Given the description of an element on the screen output the (x, y) to click on. 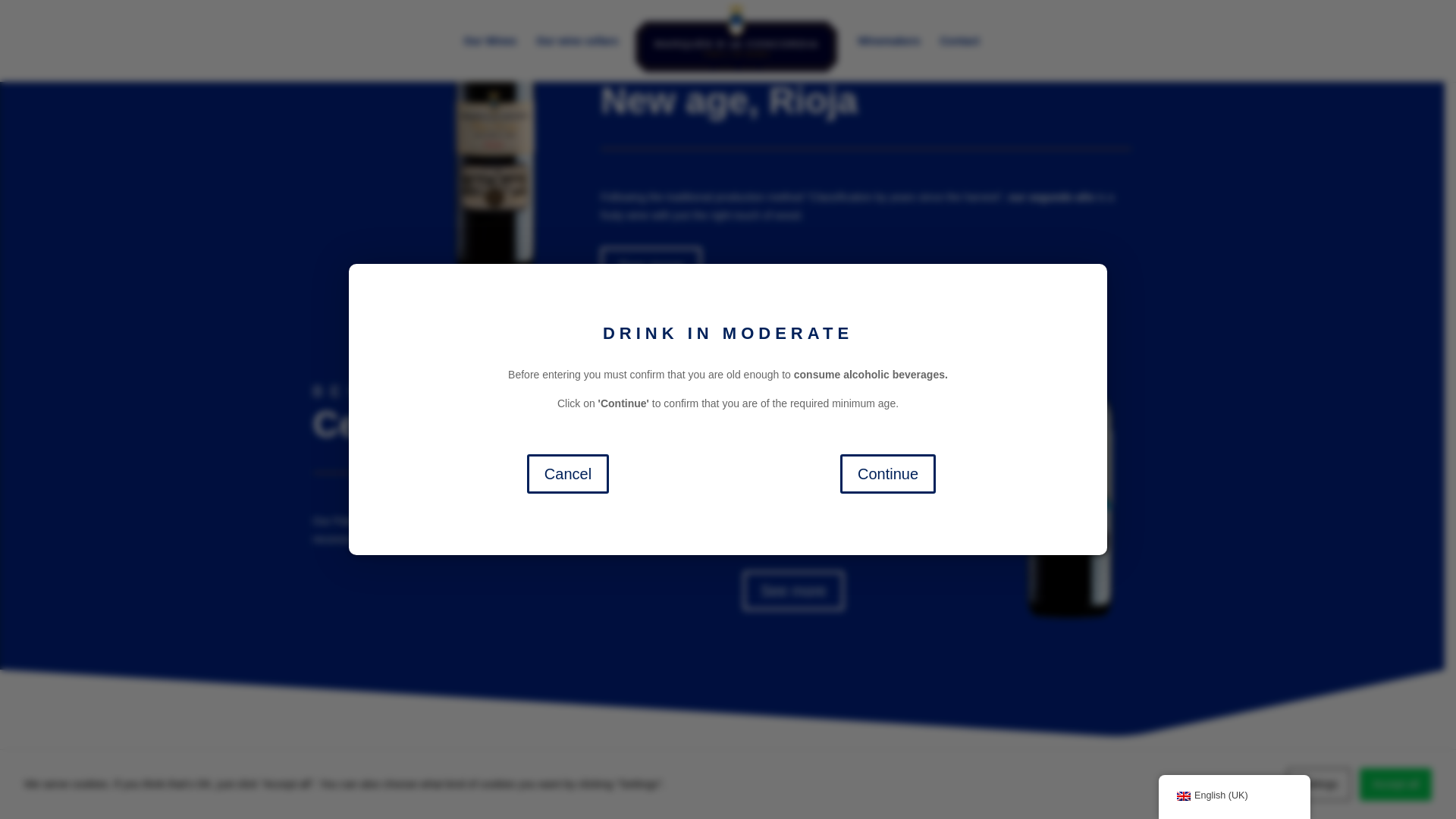
M.-Concordia-RS--SECOND-YEAR (495, 146)
